Given the description of an element on the screen output the (x, y) to click on. 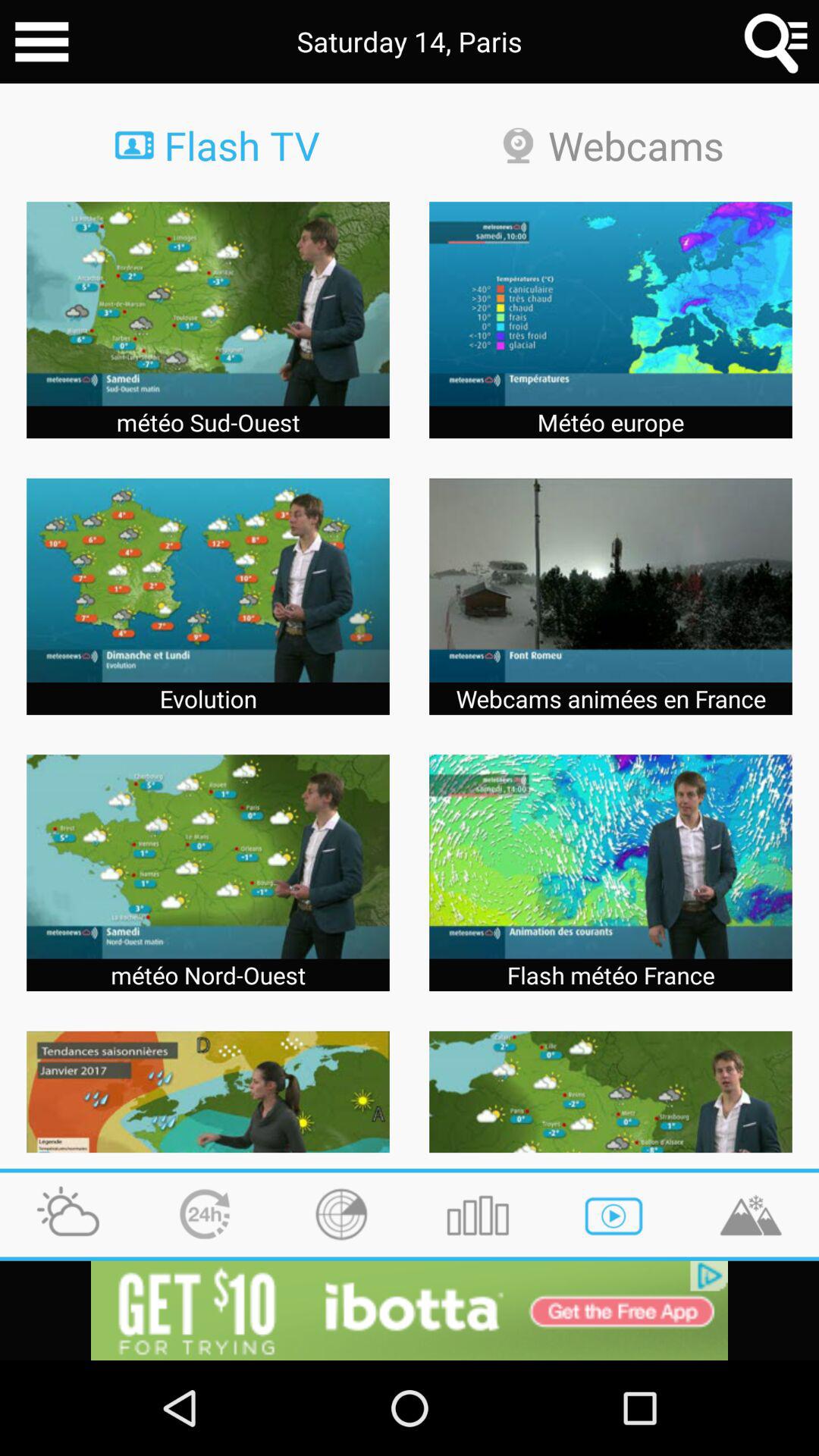
menu button (41, 41)
